Given the description of an element on the screen output the (x, y) to click on. 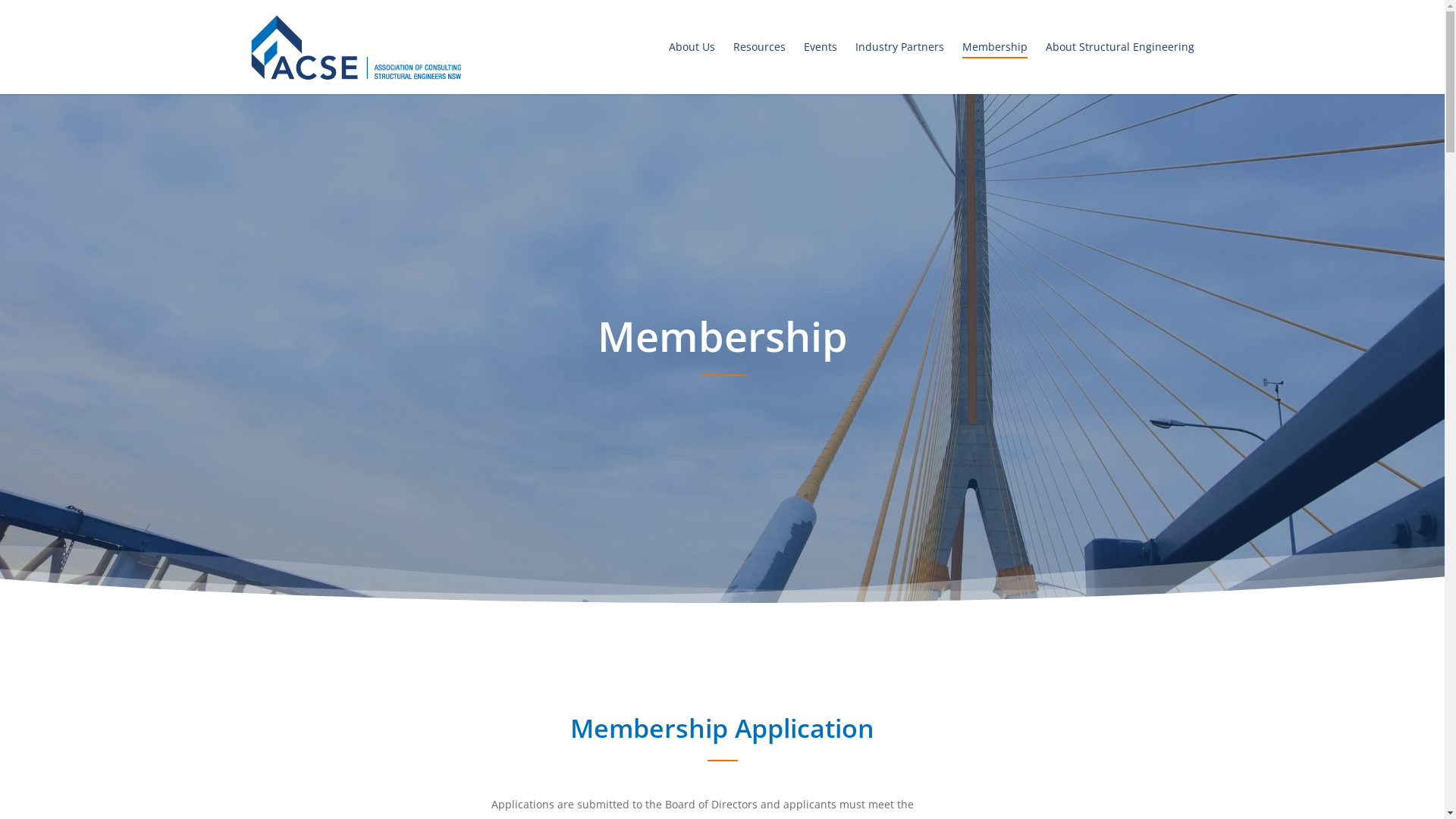
Resources Element type: text (759, 46)
About Structural Engineering Element type: text (1119, 46)
Events Element type: text (820, 46)
About Us Element type: text (691, 46)
Membership Element type: text (994, 46)
Industry Partners Element type: text (899, 46)
